Given the description of an element on the screen output the (x, y) to click on. 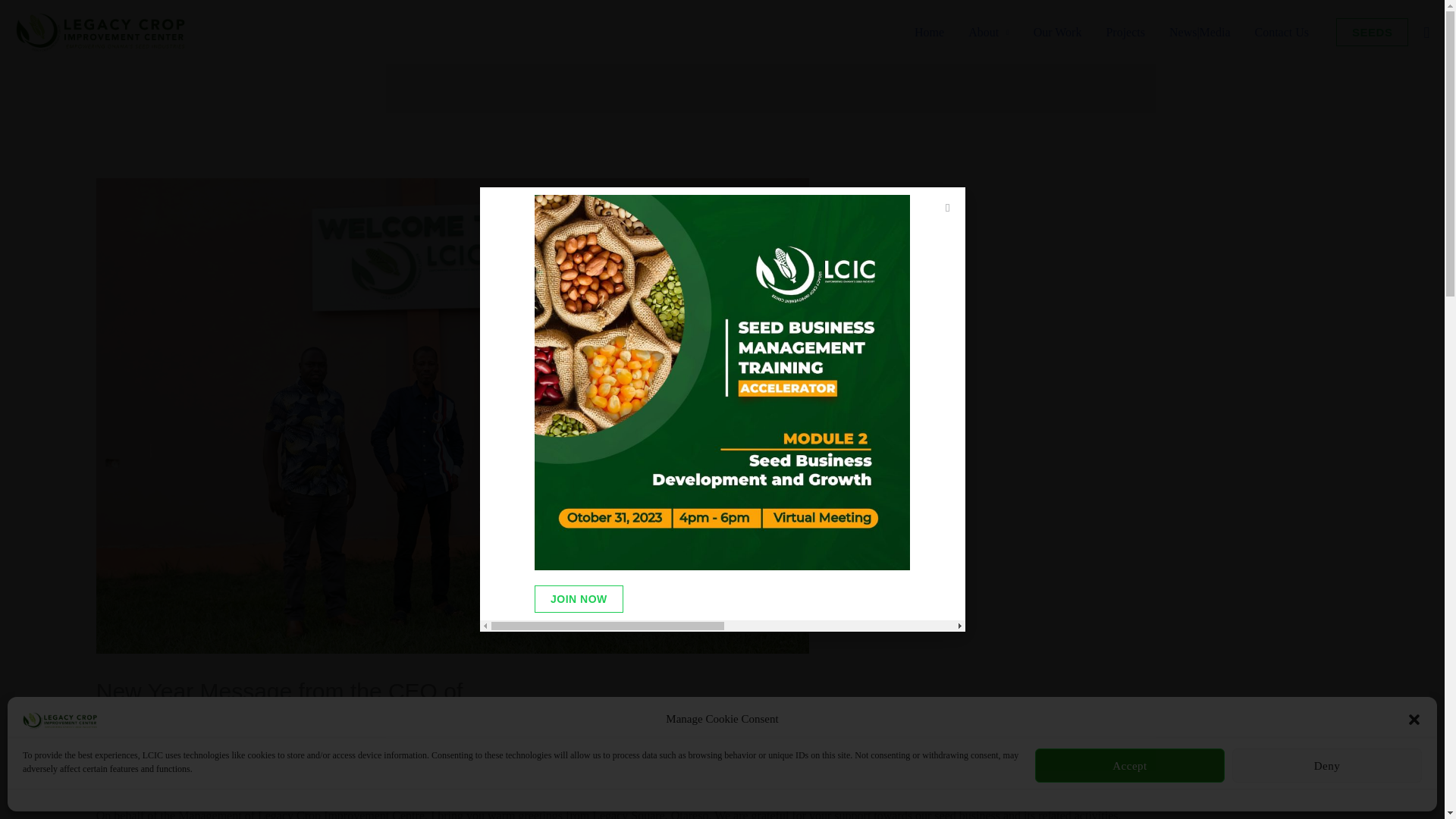
Accept (1129, 765)
Contact Us (1280, 31)
Our Work (1058, 31)
SEEDS (1371, 31)
Home (929, 31)
Deny (1326, 765)
Projects (1125, 31)
View all posts by steve (260, 748)
About (989, 31)
